Given the description of an element on the screen output the (x, y) to click on. 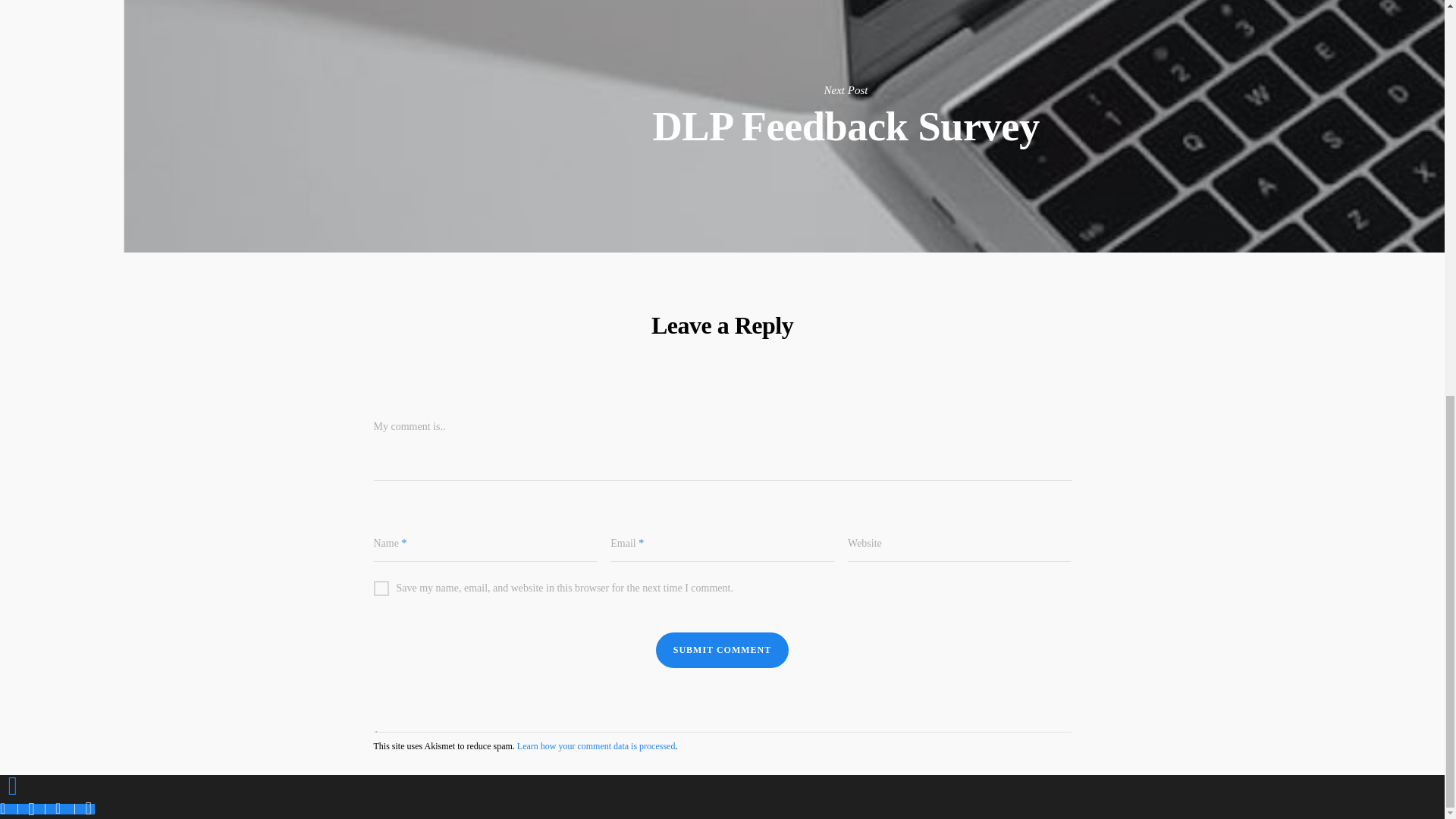
Submit Comment (722, 650)
Learn how your comment data is processed (595, 746)
Submit Comment (722, 650)
Pin this (84, 808)
Share this (60, 808)
Share this (8, 808)
Tweet this (31, 808)
